Given the description of an element on the screen output the (x, y) to click on. 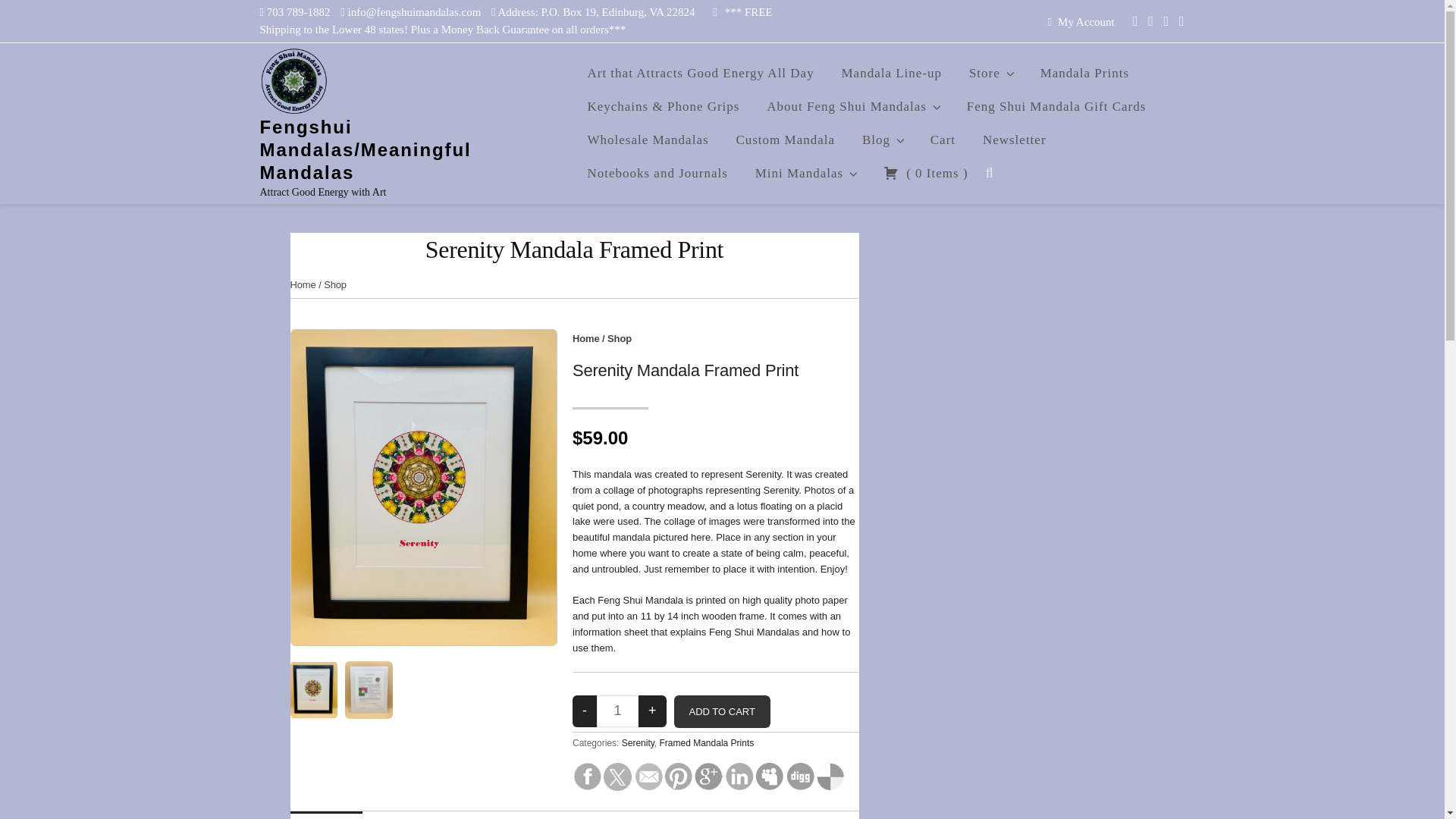
Address: P.O. Box 19, Edinburg, VA 22824 (595, 11)
Mandala Prints (1083, 73)
Mandala Line-up (891, 73)
ADD TO CART (722, 711)
My Account (1085, 20)
About Feng Shui Mandalas (852, 106)
Store (991, 73)
1 (617, 711)
Art that Attracts Good Energy All Day (700, 73)
